Given the description of an element on the screen output the (x, y) to click on. 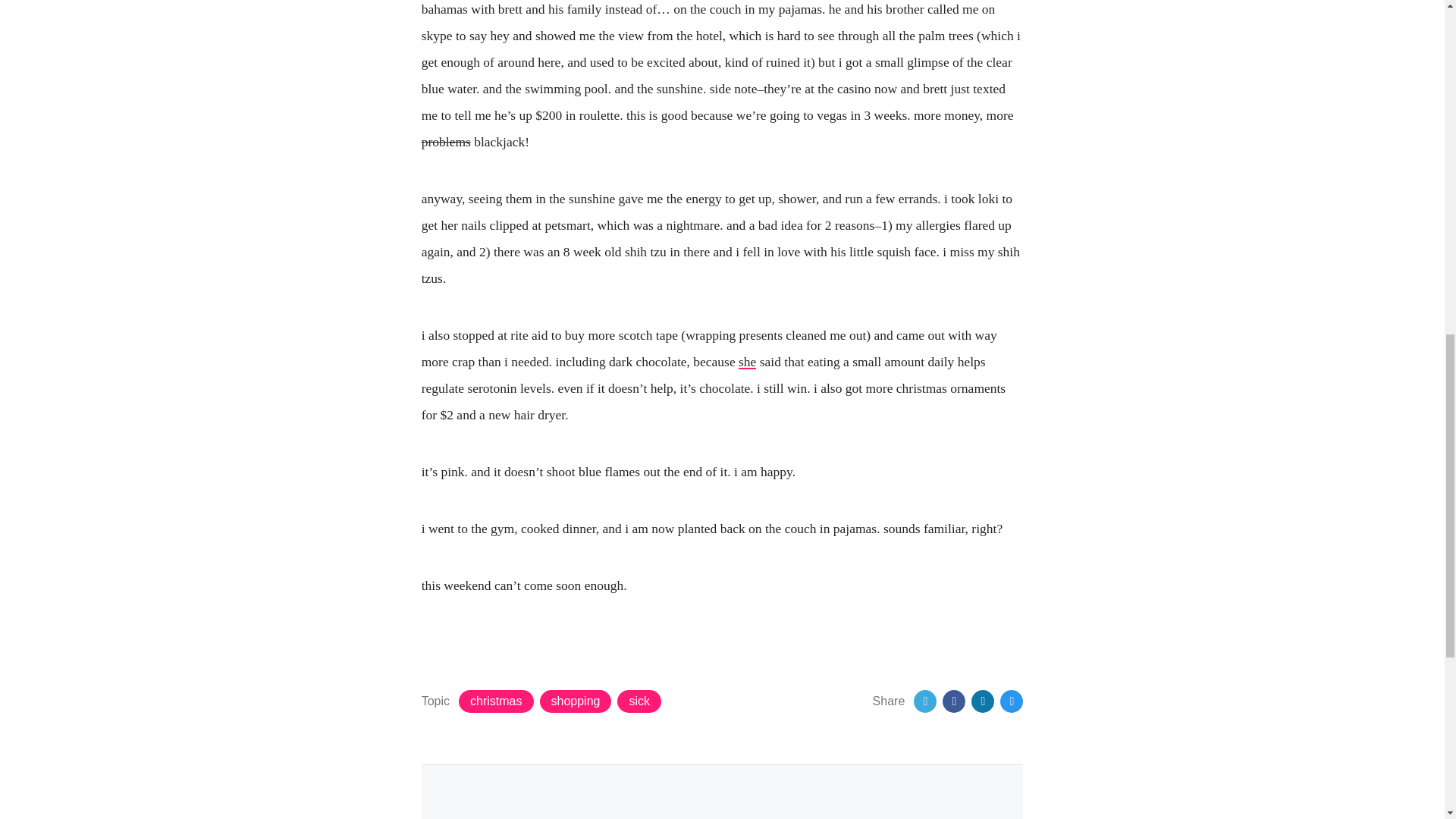
sick (639, 701)
Email (1011, 701)
LinkedIn (982, 701)
she (746, 361)
Facebook (953, 701)
shopping (575, 701)
christmas (495, 701)
Twitter (925, 701)
